Given the description of an element on the screen output the (x, y) to click on. 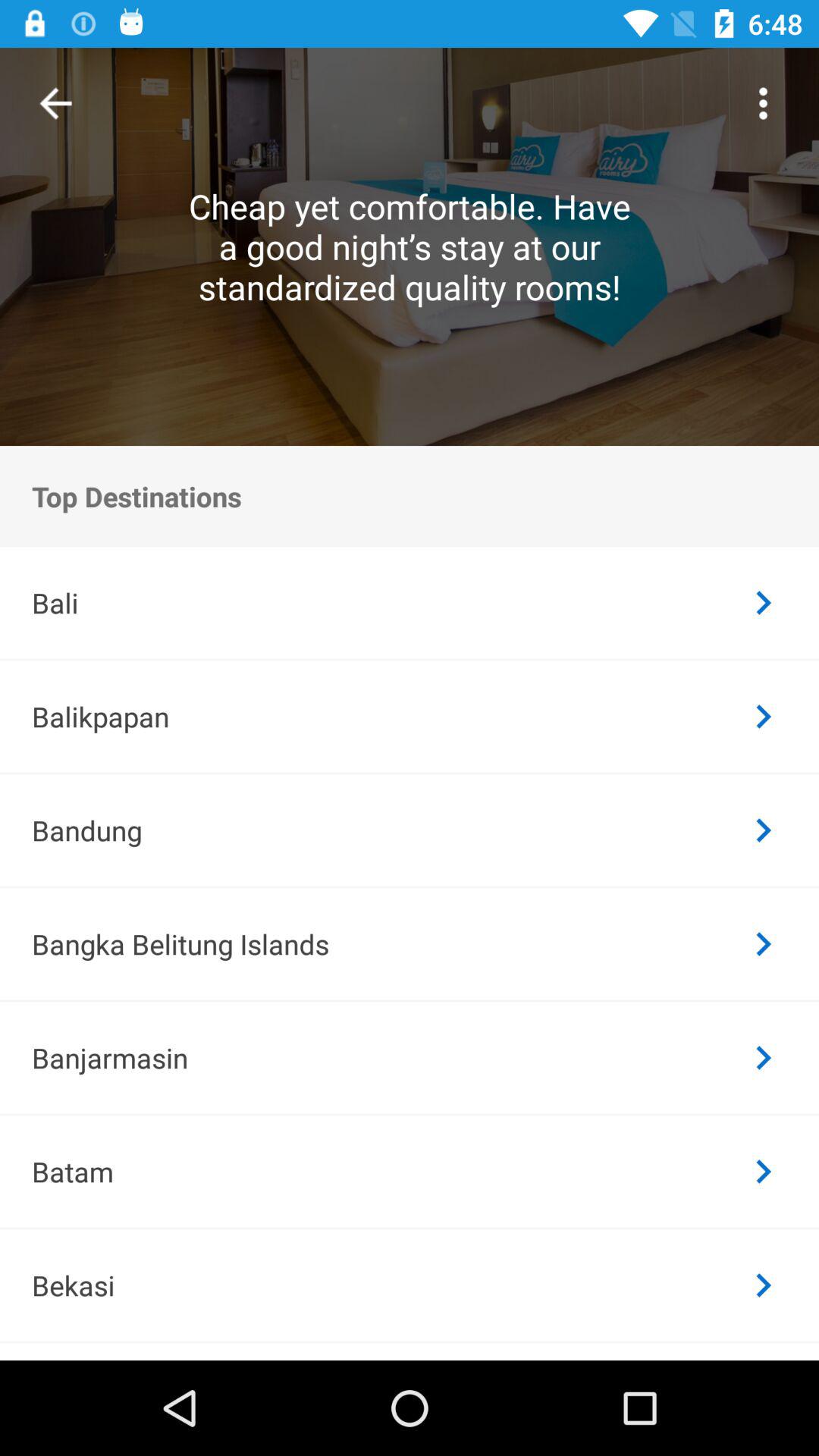
choose the item to the left of the cheap yet comfortable (55, 103)
